Given the description of an element on the screen output the (x, y) to click on. 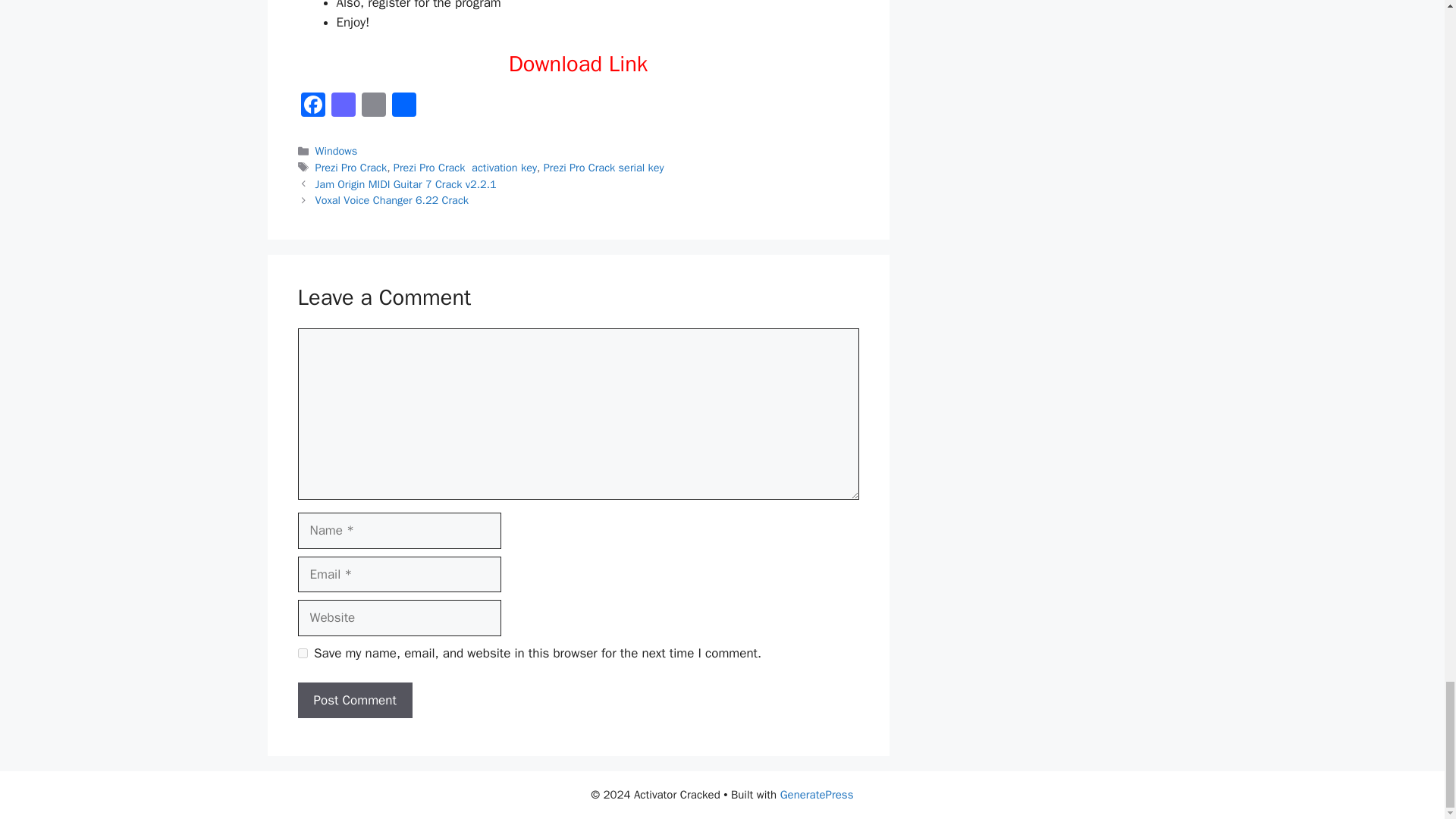
Voxal Voice Changer 6.22 Crack (391, 200)
Mastodon (342, 106)
Post Comment (354, 700)
Jam Origin MIDI Guitar 7 Crack v2.2.1 (405, 183)
Prezi Pro Crack serial key (603, 167)
Email (373, 106)
Windows (336, 151)
Post Comment (354, 700)
Mastodon (342, 106)
Prezi Pro Crack (351, 167)
